Given the description of an element on the screen output the (x, y) to click on. 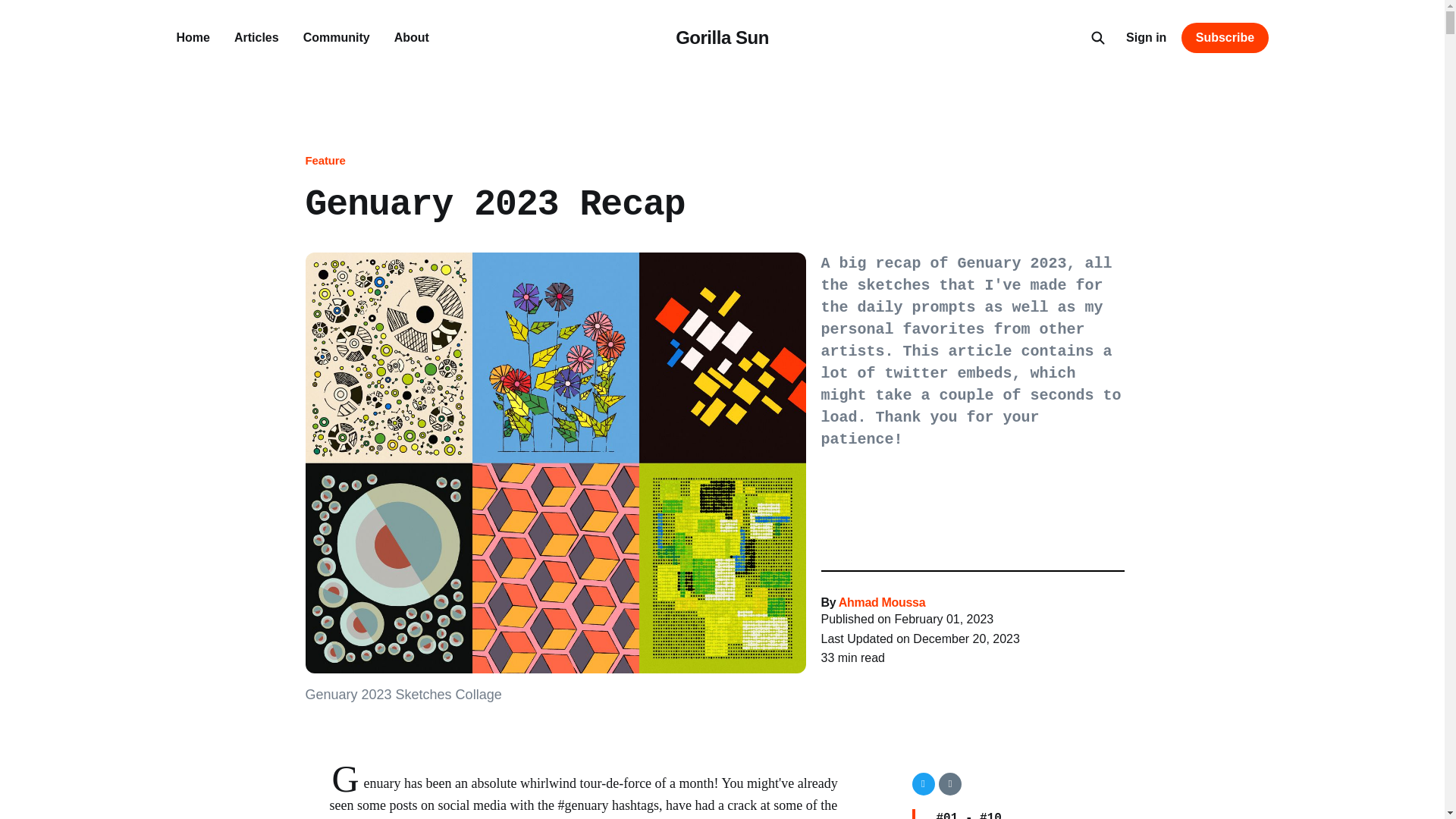
Community (335, 37)
Sign in (1145, 37)
Home (192, 37)
Ahmad Moussa (881, 602)
Gorilla Sun (721, 37)
About (411, 37)
Subscribe (1224, 37)
Feature (324, 160)
Articles (256, 37)
